Given the description of an element on the screen output the (x, y) to click on. 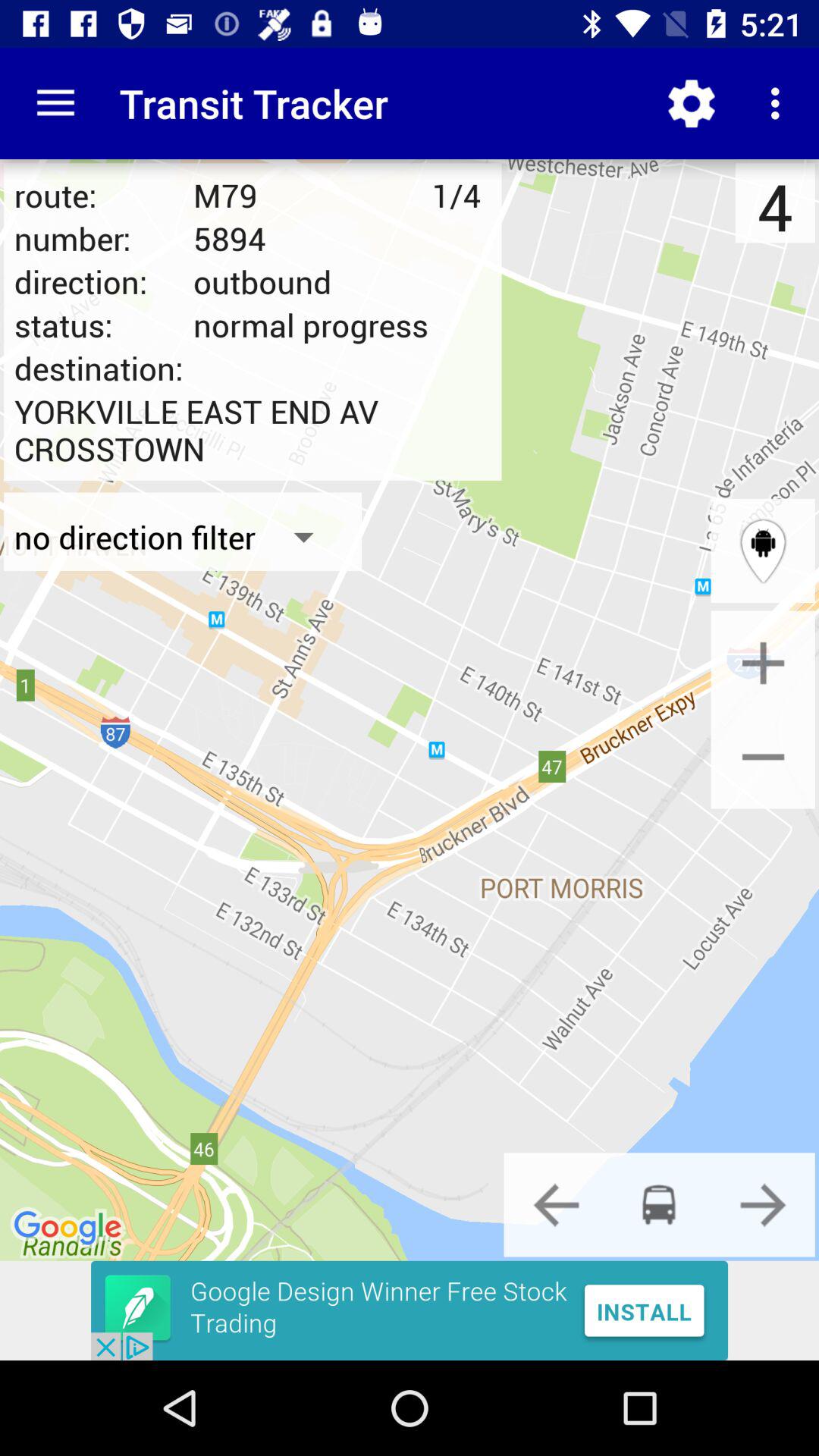
center on current location (762, 550)
